Given the description of an element on the screen output the (x, y) to click on. 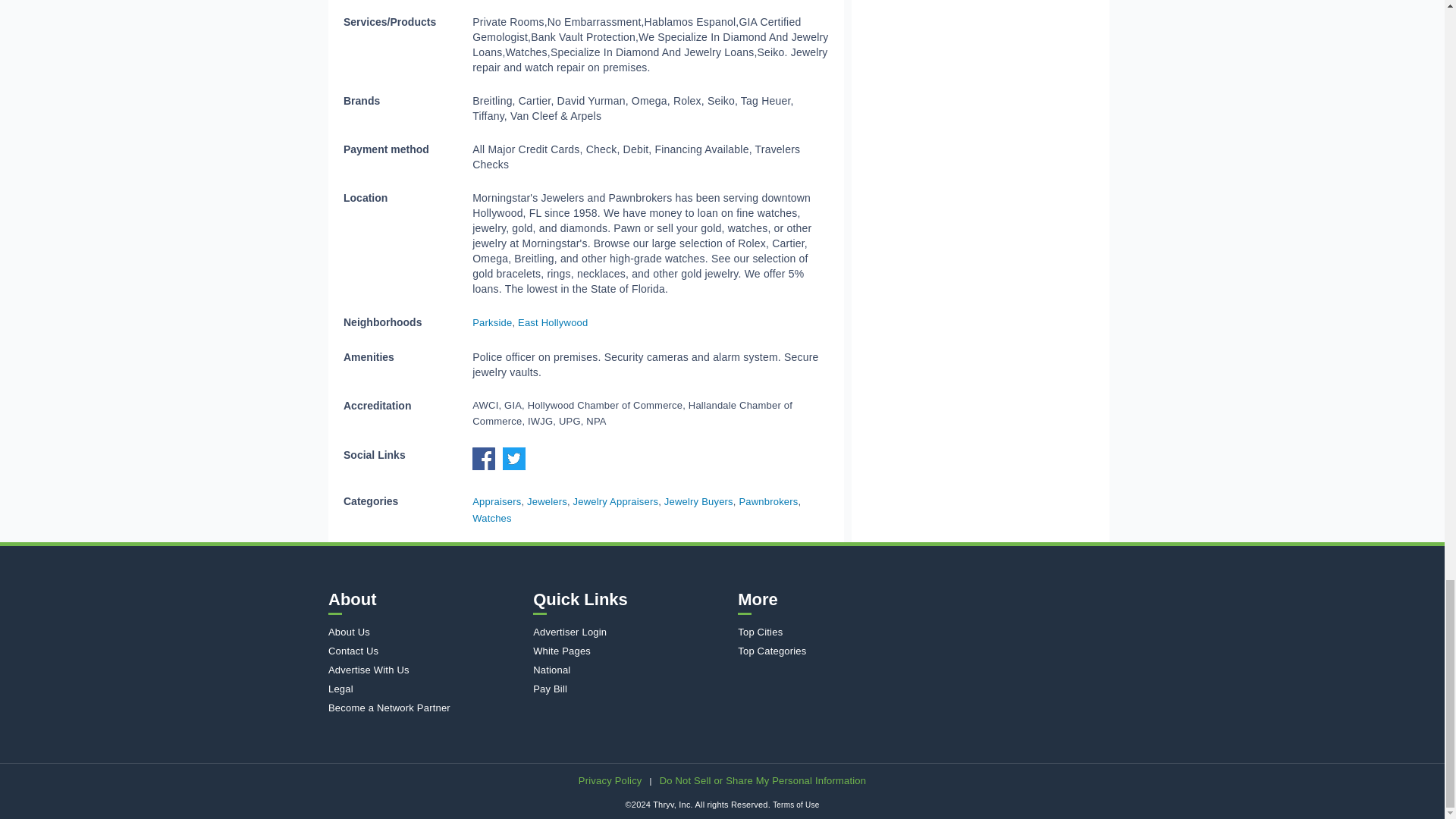
Jewelry Buyers (698, 501)
Appraisers (496, 501)
Watches (491, 518)
Twitter (517, 466)
Facebook (486, 466)
Parkside (491, 322)
Jewelry Appraisers (616, 501)
Jewelers (547, 501)
Pawnbrokers (767, 501)
East Hollywood (553, 322)
